Given the description of an element on the screen output the (x, y) to click on. 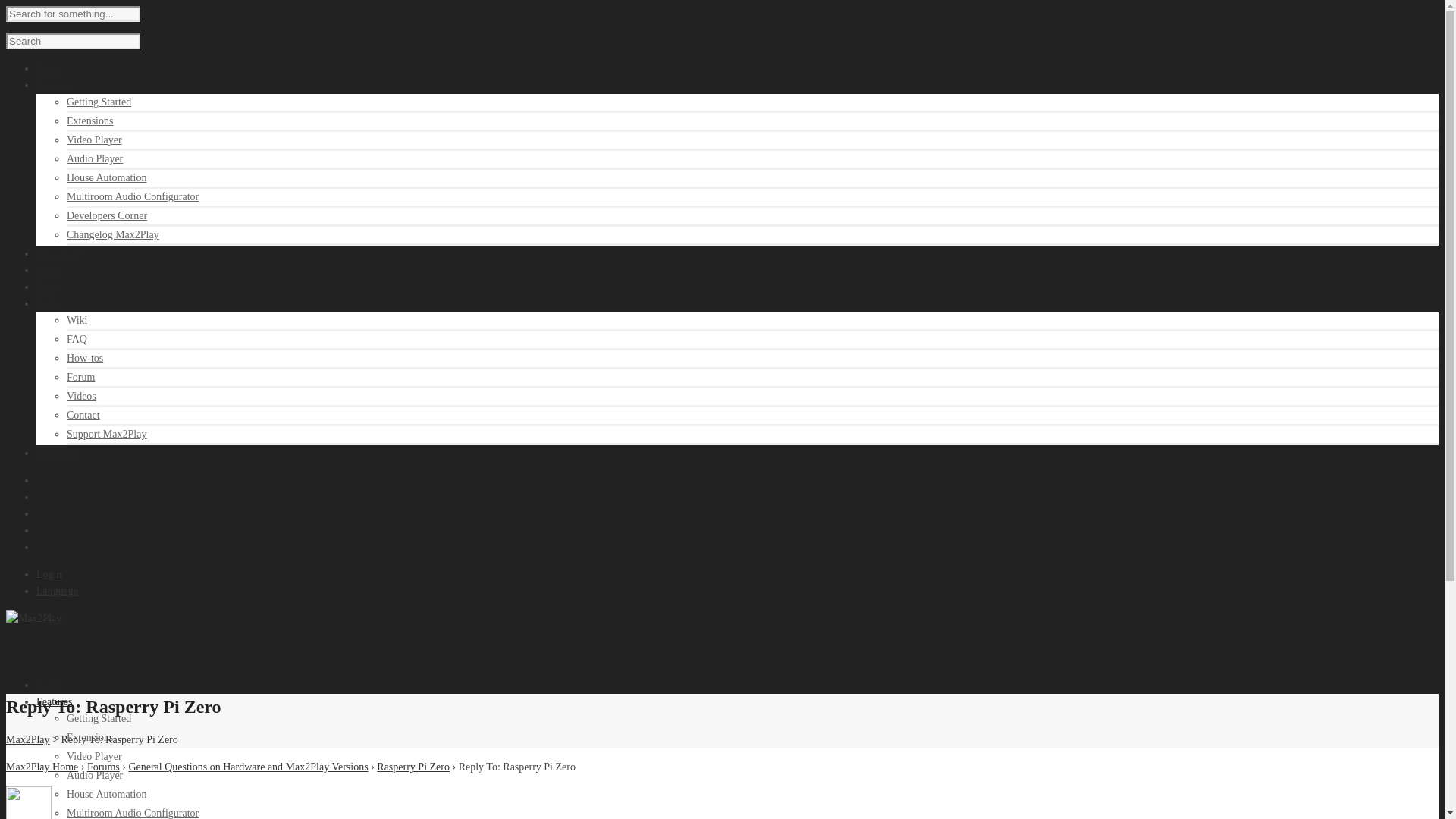
Shop (47, 270)
How-tos (84, 357)
Magazine (57, 452)
Blog (46, 286)
FAQ (76, 338)
Gehe zu Max2Play. (27, 739)
House Automation (106, 794)
Home (49, 685)
Extensions (89, 120)
Getting Started (98, 101)
